Given the description of an element on the screen output the (x, y) to click on. 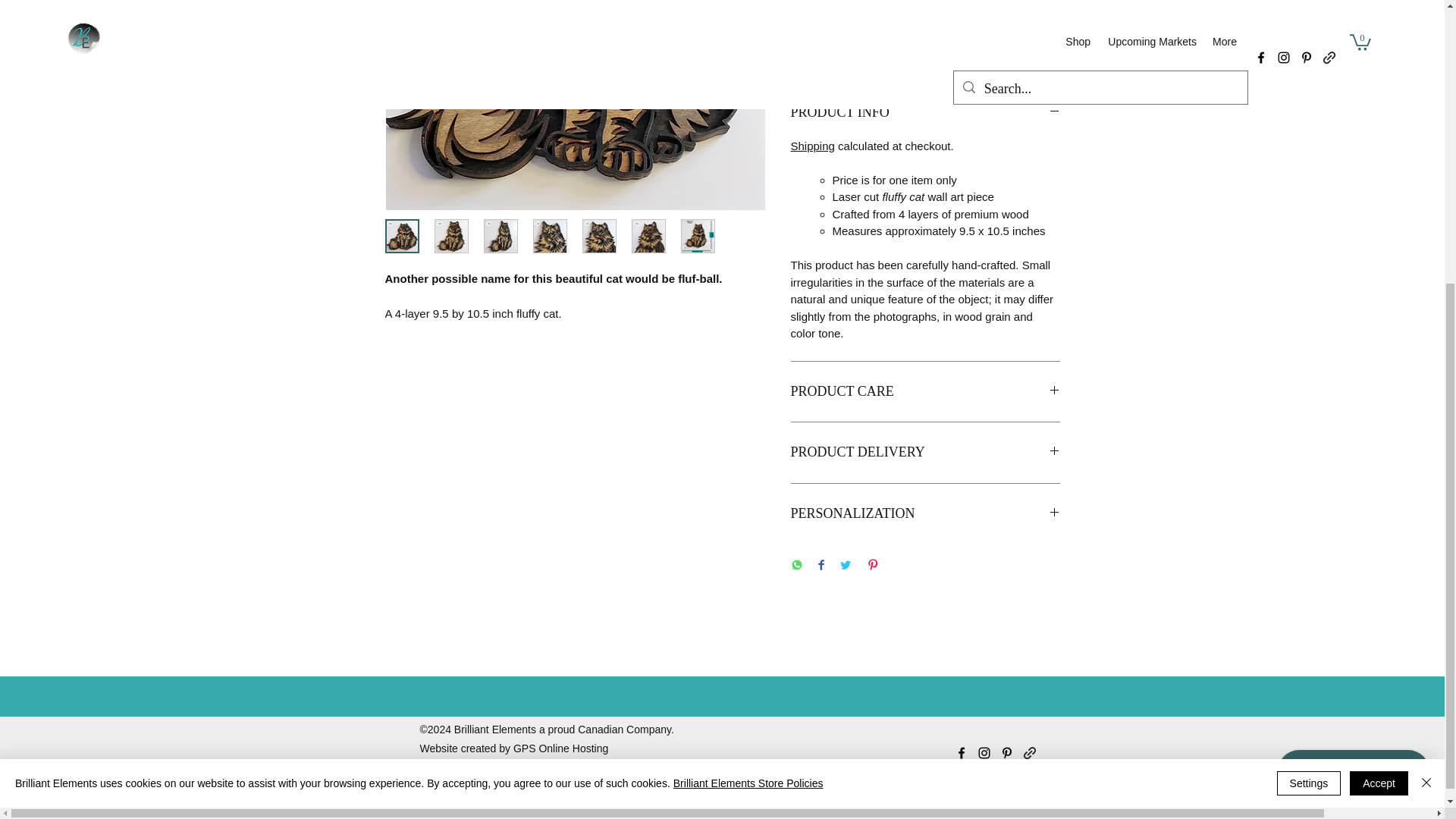
Pre-Order (924, 50)
Shipping (812, 145)
PRODUCT CARE (924, 392)
PRODUCT INFO (924, 112)
Wix Chat (1356, 338)
